Given the description of an element on the screen output the (x, y) to click on. 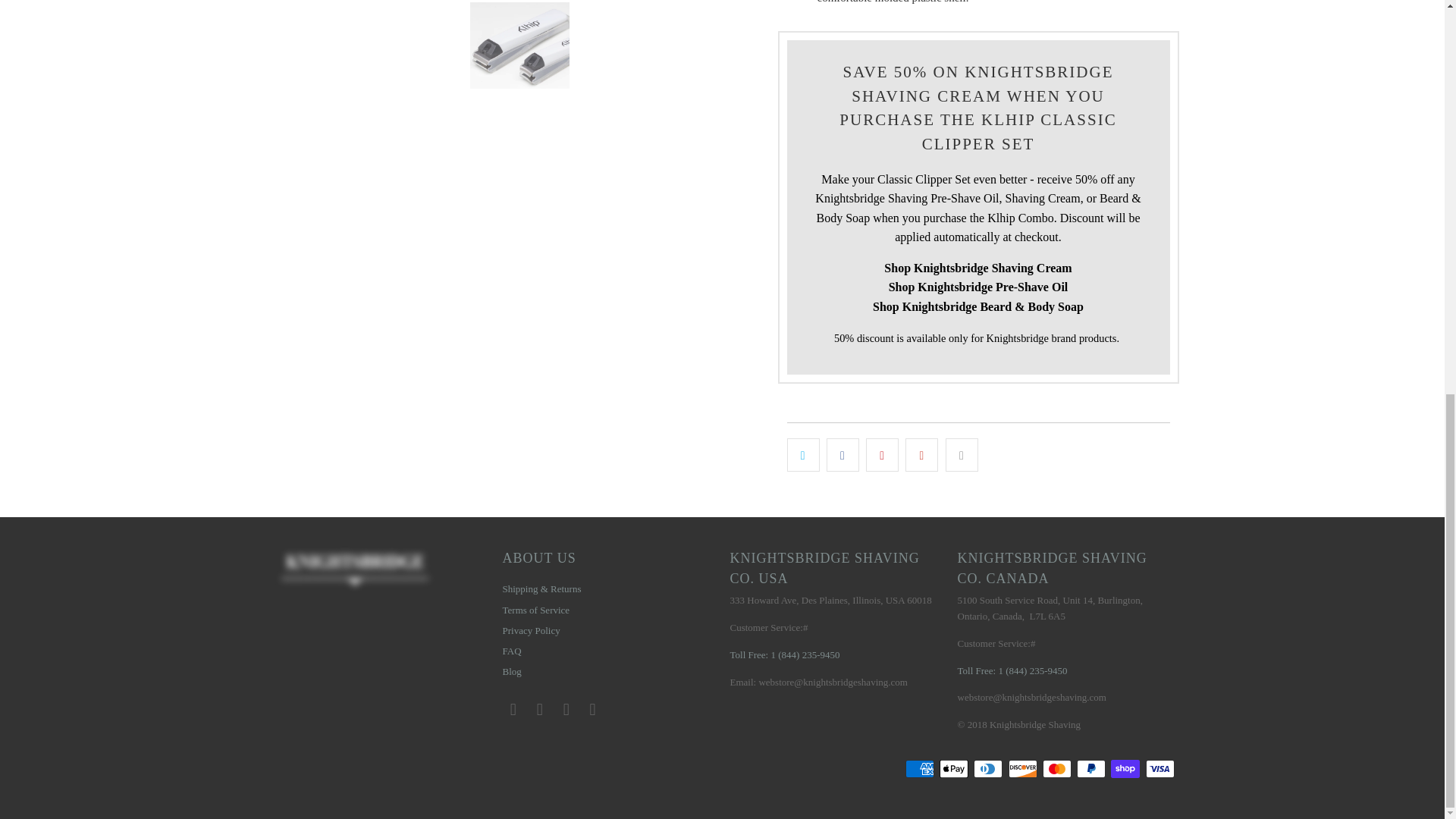
Share this on Twitter (803, 454)
Email KnightsbridgeShaving (592, 710)
KnightsbridgeShaving on Pinterest (539, 710)
KnightsbridgeShaving on Instagram (566, 710)
KnightsbridgeShaving on Facebook (513, 710)
Email this to a friend (961, 454)
Share this on Pinterest (882, 454)
Share this on Facebook (843, 454)
